Given the description of an element on the screen output the (x, y) to click on. 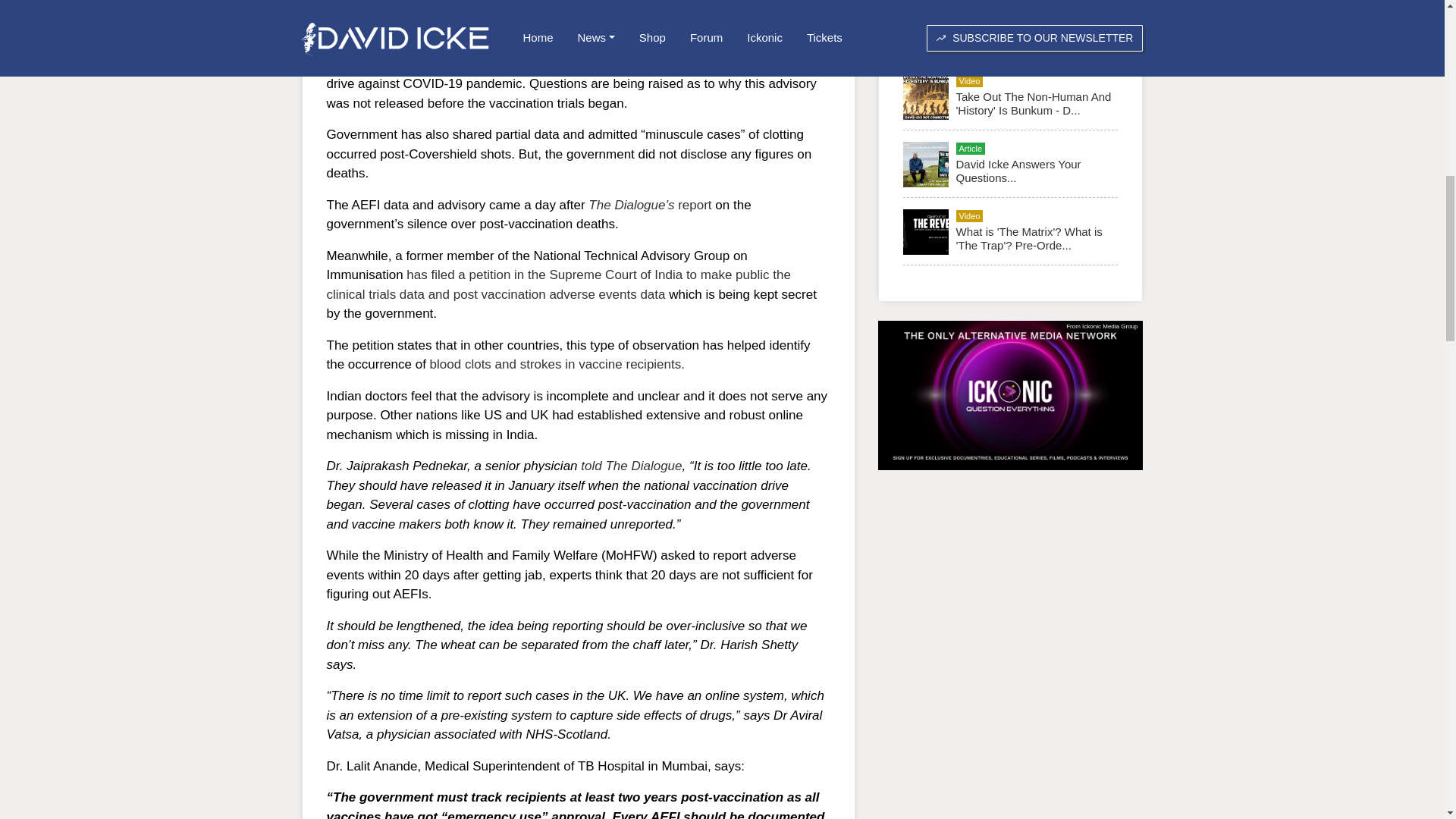
told The Dialogue (630, 465)
blood clots and strokes in vaccine recipients. (556, 364)
 report (692, 205)
David Icke Answers Your Questions... (1017, 171)
